Given the description of an element on the screen output the (x, y) to click on. 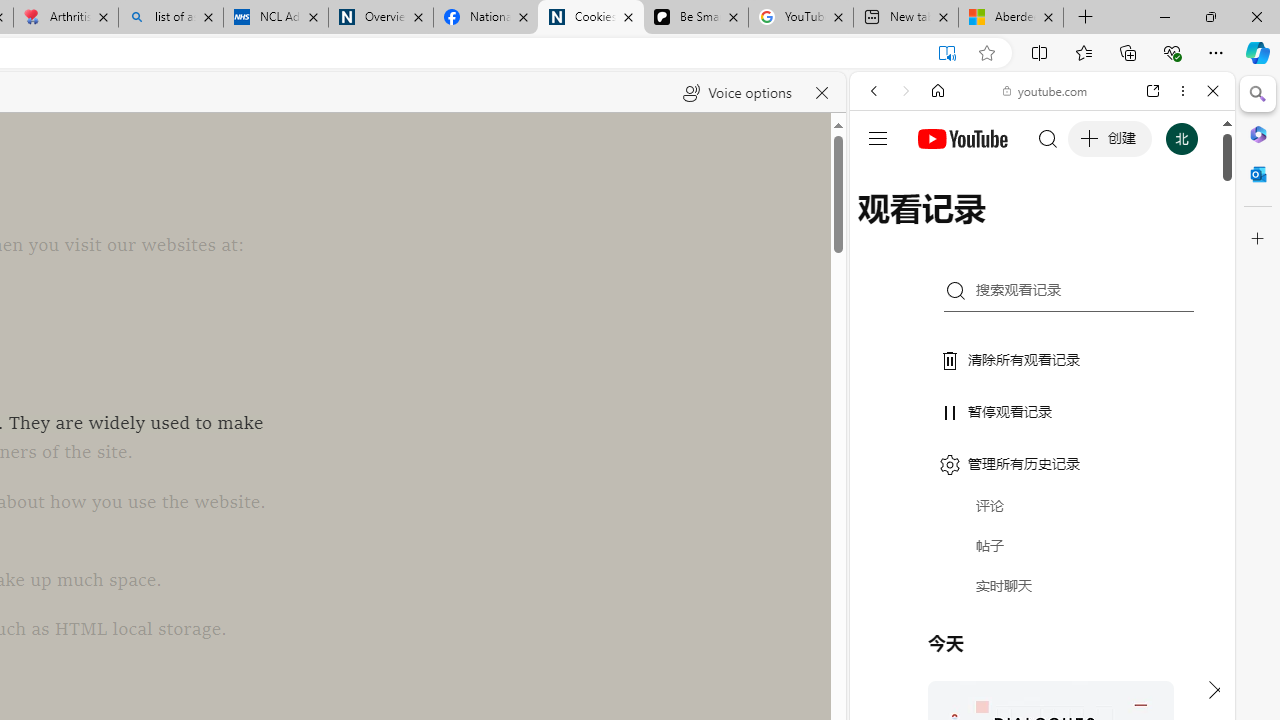
This site scope (936, 180)
NCL Adult Asthma Inhaler Choice Guideline (275, 17)
Trailer #2 [HD] (1042, 594)
SEARCH TOOLS (1093, 228)
Cookies (590, 17)
Show More Music (1164, 546)
